Given the description of an element on the screen output the (x, y) to click on. 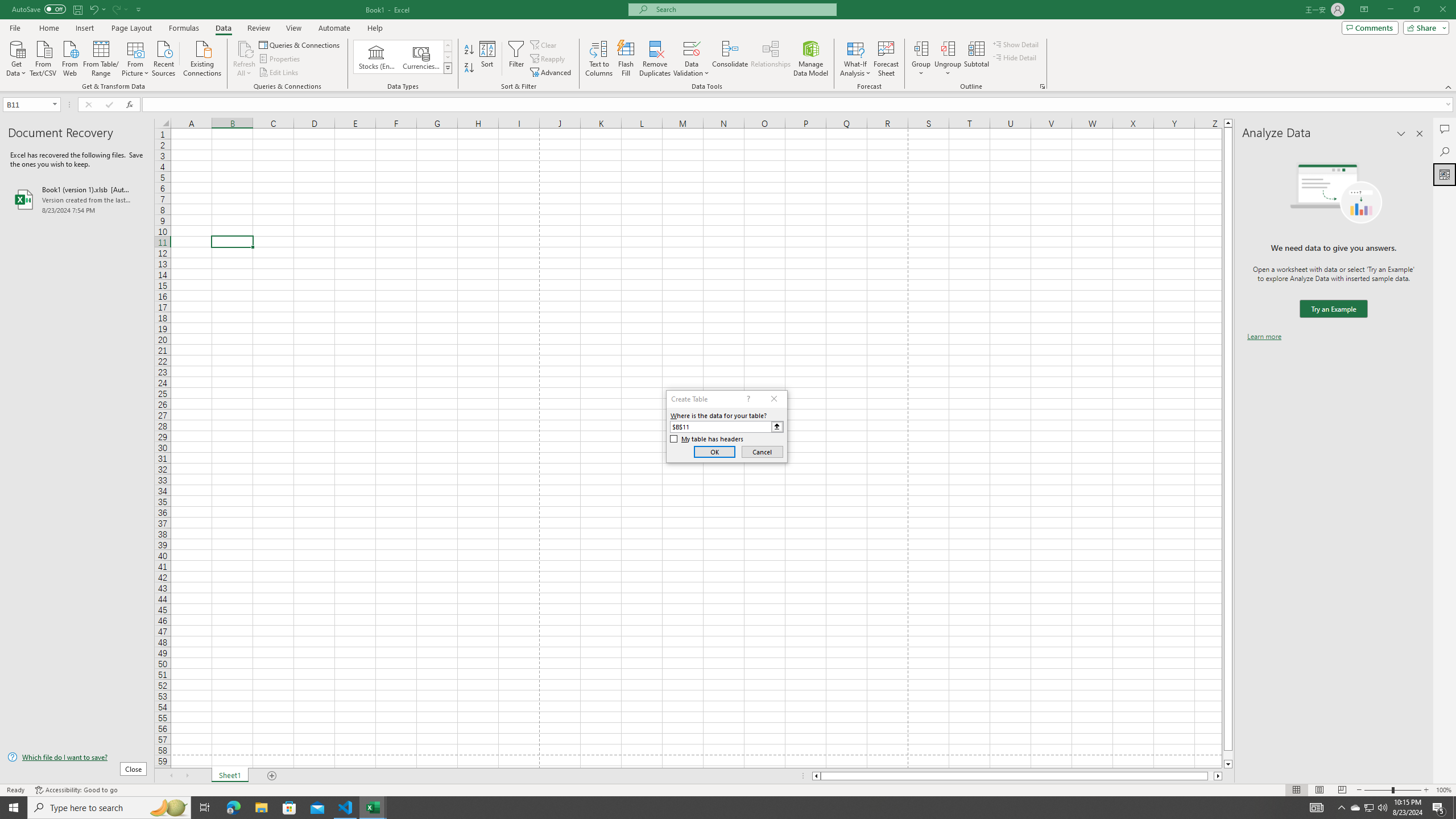
Reapply (548, 58)
Column left (815, 775)
Column right (1218, 775)
Existing Connections (202, 57)
Advanced... (551, 72)
Flash Fill (625, 58)
Show Detail (1016, 44)
Automate (334, 28)
Row up (448, 45)
Zoom Out (1377, 790)
Collapse the Ribbon (1448, 86)
Text to Columns... (598, 58)
Line down (1228, 764)
